Given the description of an element on the screen output the (x, y) to click on. 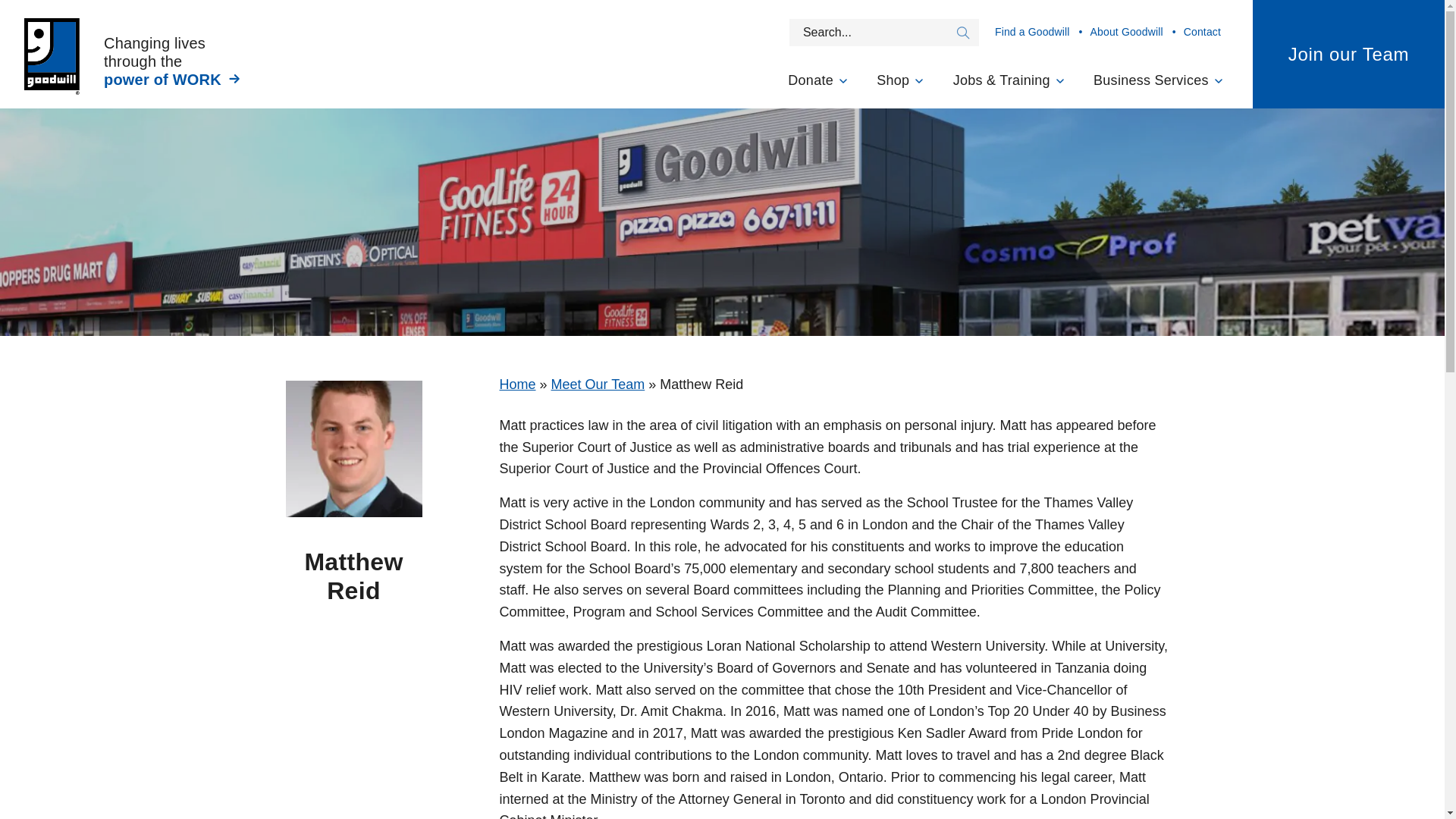
Contact (1198, 31)
Home (517, 384)
Find a Goodwill (1035, 31)
power of WORK (173, 79)
Shop (901, 85)
About Goodwill (1129, 31)
Donate (818, 85)
Business Services (1158, 85)
